Given the description of an element on the screen output the (x, y) to click on. 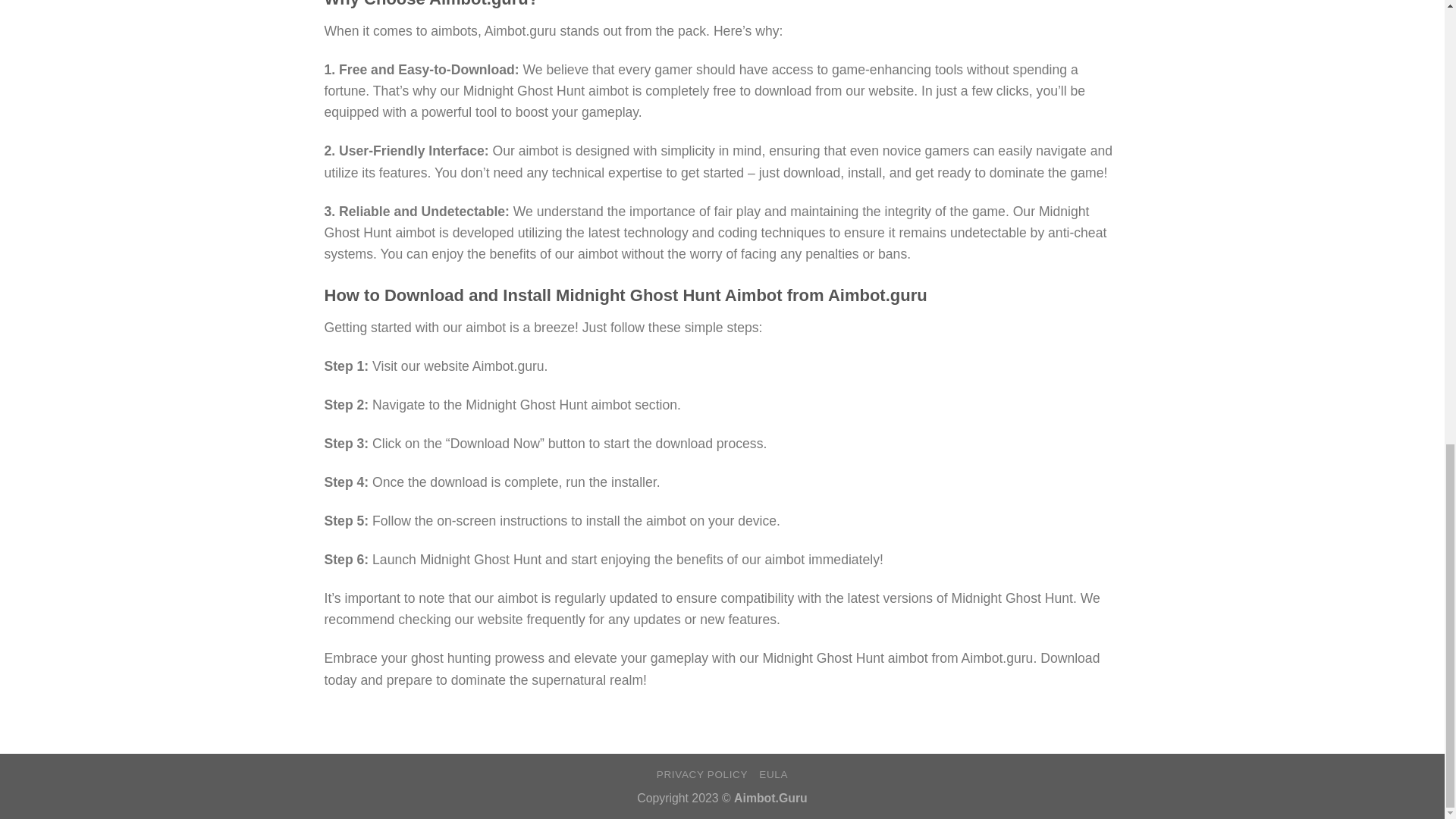
PRIVACY POLICY (702, 774)
EULA (772, 774)
